Given the description of an element on the screen output the (x, y) to click on. 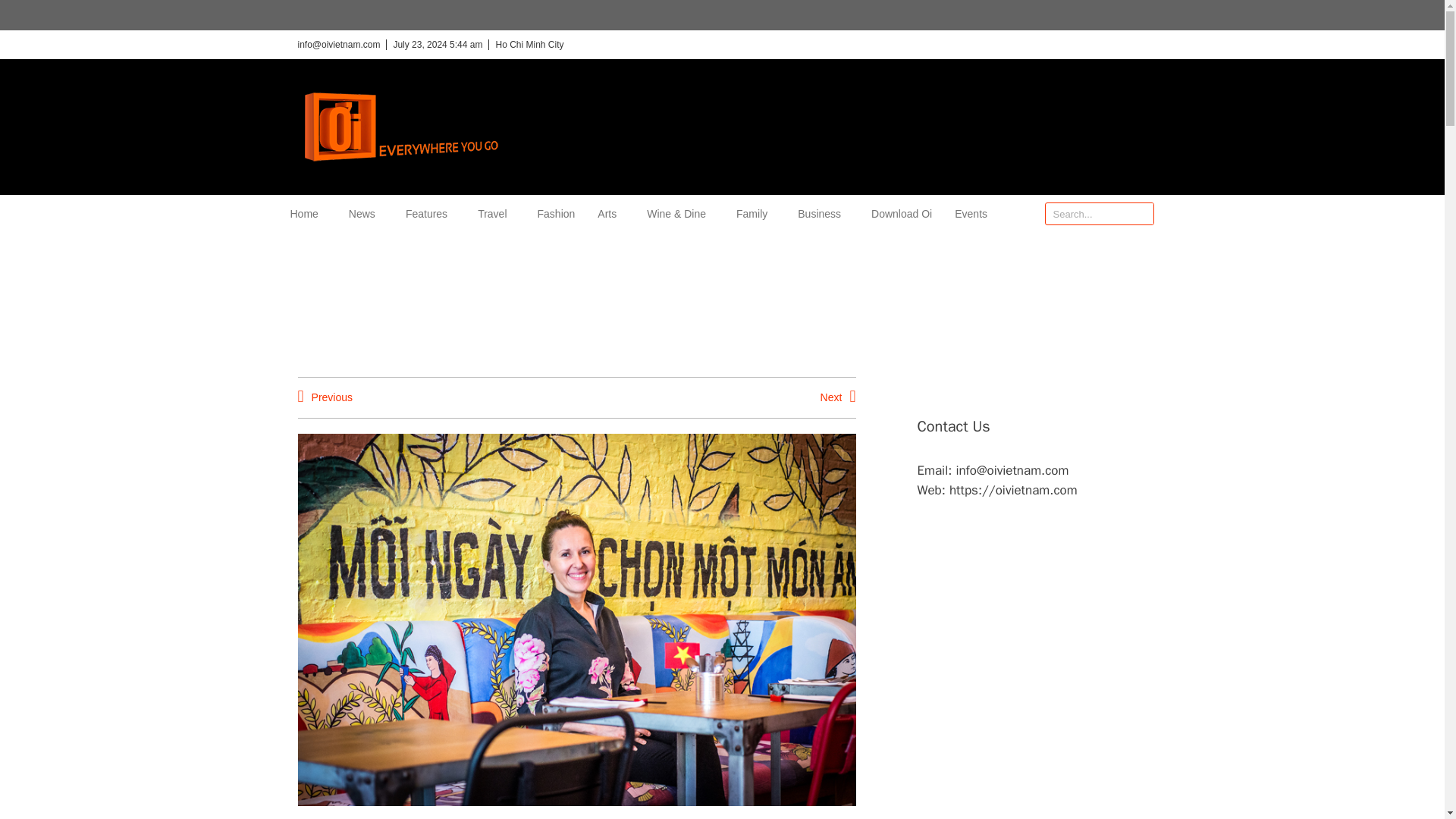
Family (755, 213)
News (365, 213)
Business (822, 213)
Home (306, 213)
Travel (495, 213)
Fashion (556, 213)
Features (430, 213)
